Given the description of an element on the screen output the (x, y) to click on. 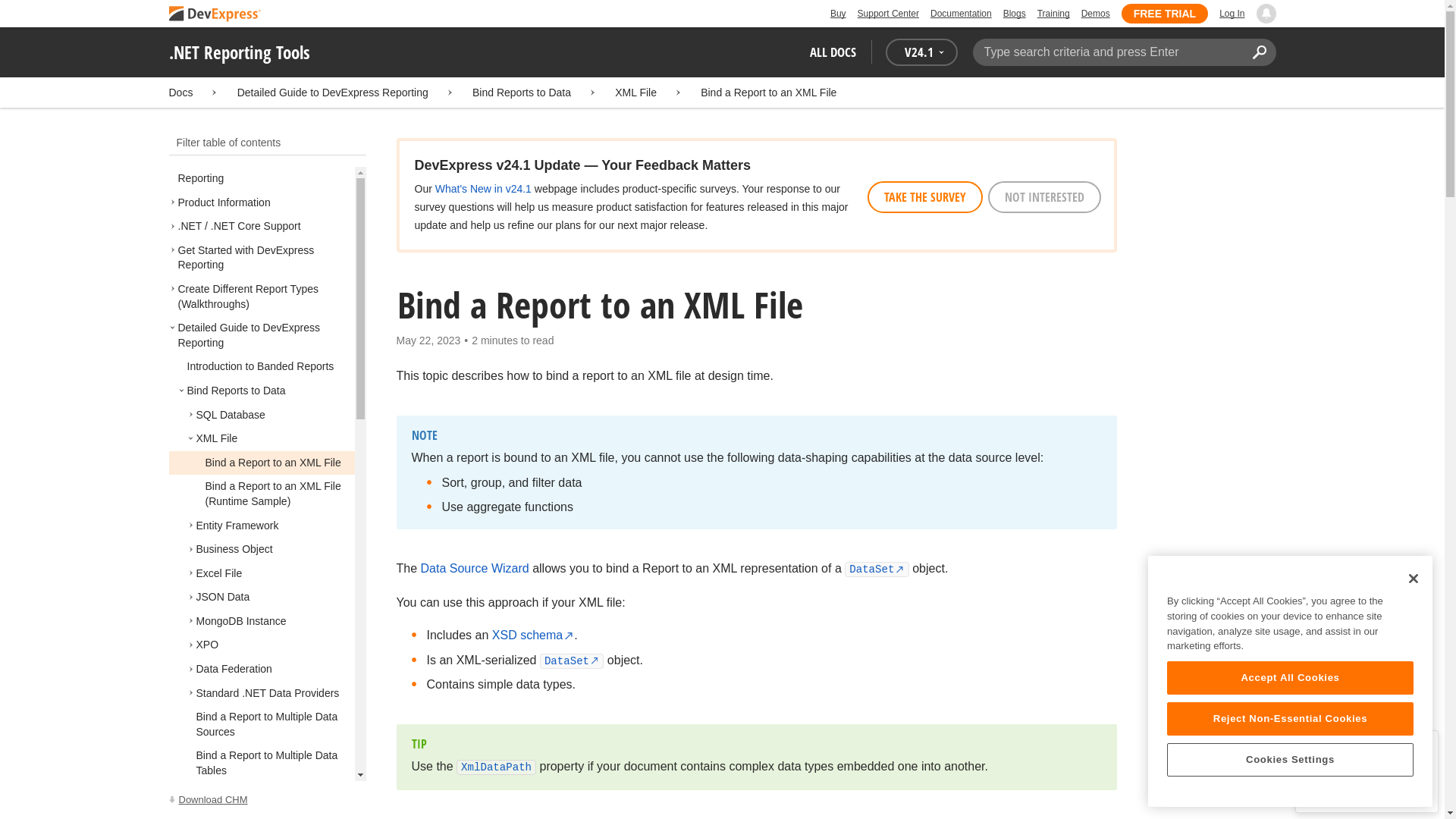
Documentation (960, 13)
Bind Reports to Data (520, 92)
DevExpress (214, 14)
Detailed Guide to DevExpress Reporting (332, 92)
Training (1053, 13)
.NET Reporting Tools, v24.1 (266, 800)
V 24.1 (921, 52)
FREE TRIAL (1164, 13)
Blogs (1014, 13)
XML File (635, 92)
